Given the description of an element on the screen output the (x, y) to click on. 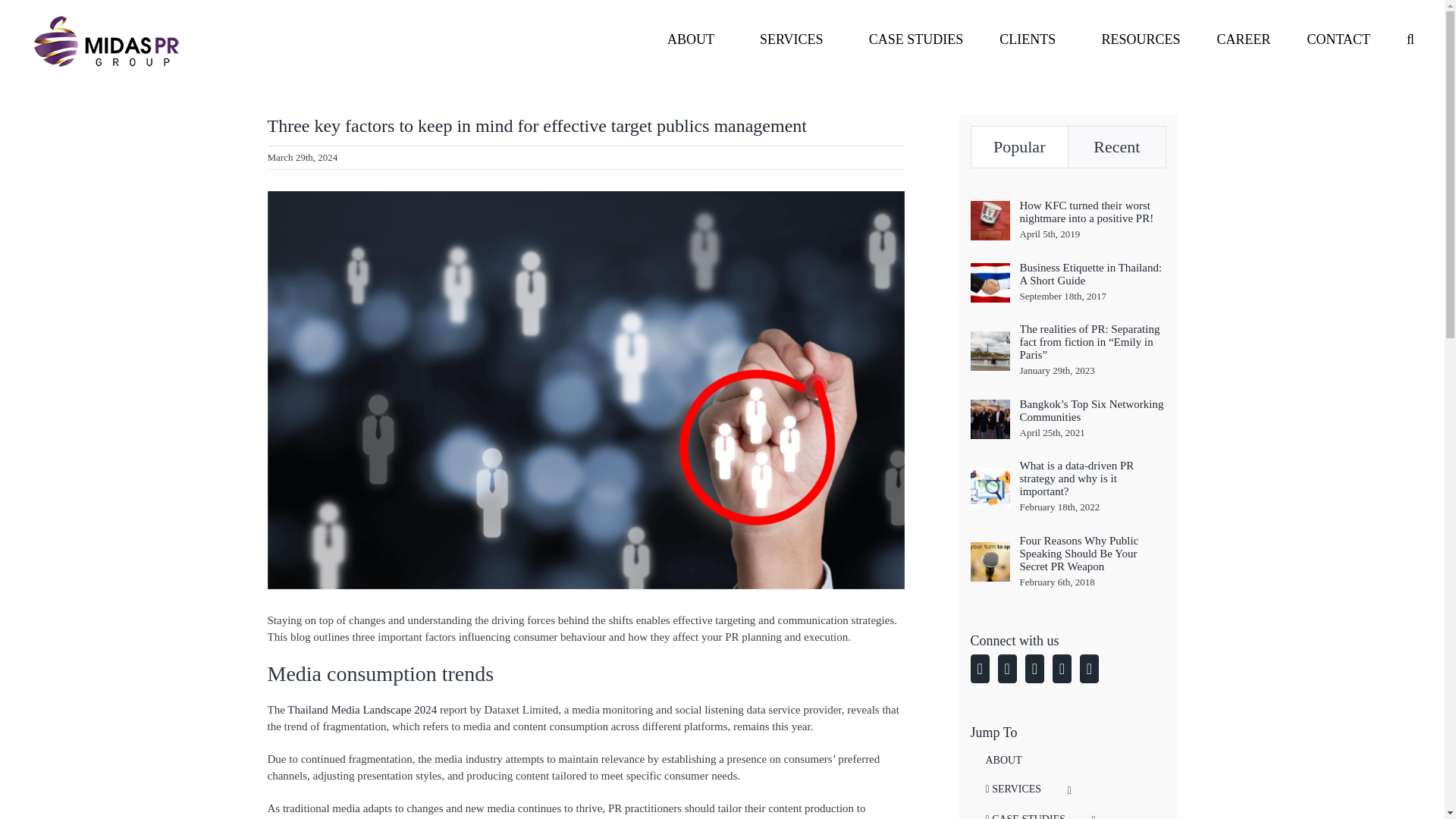
RESOURCES (1135, 37)
CASE STUDIES (911, 37)
CONTACT (1338, 37)
CLIENTS (1026, 37)
SERVICES (787, 37)
